Given the description of an element on the screen output the (x, y) to click on. 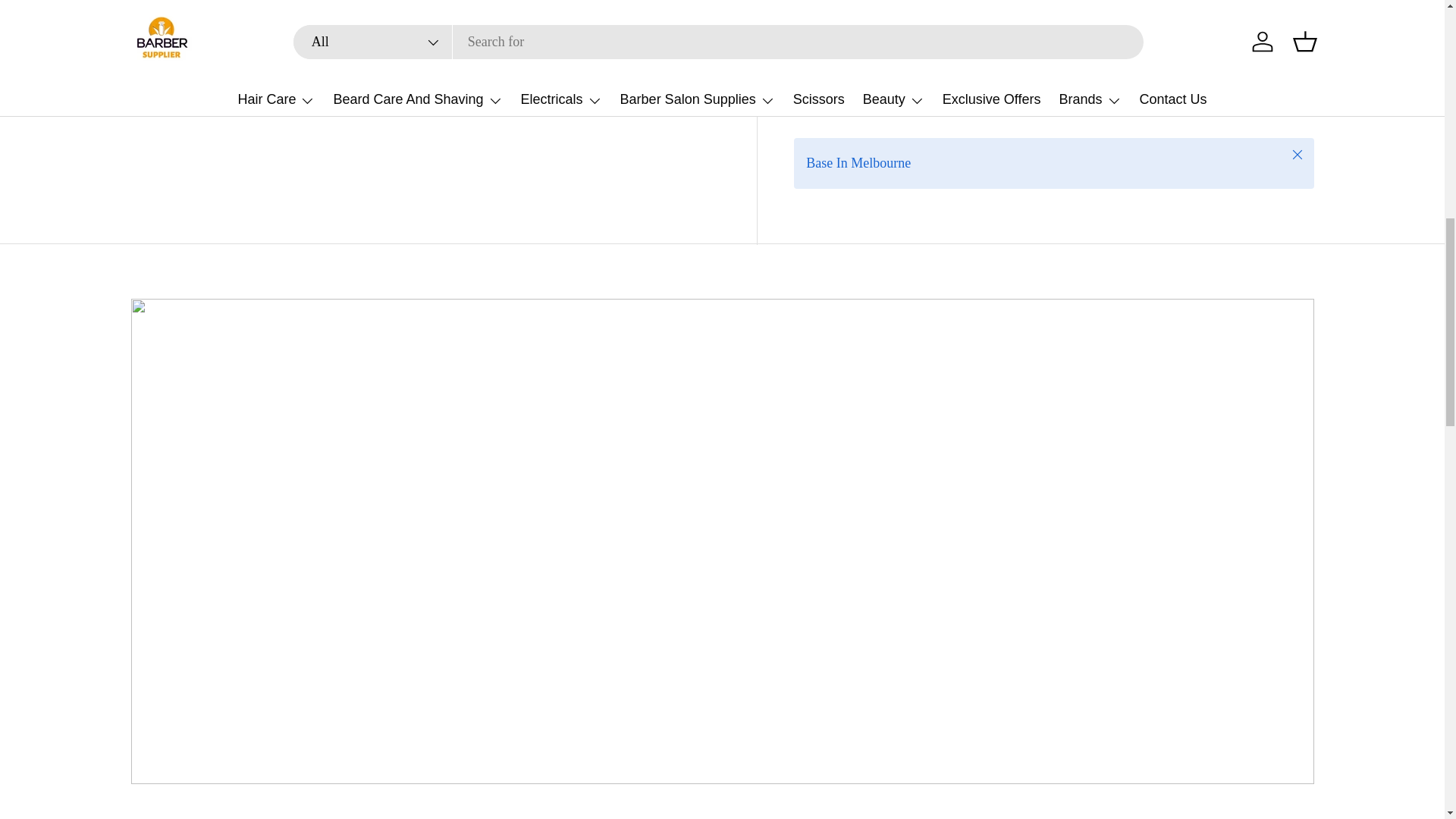
Pin on Pinterest (920, 103)
Share on Facebook (887, 103)
Tweet on X (853, 103)
